Given the description of an element on the screen output the (x, y) to click on. 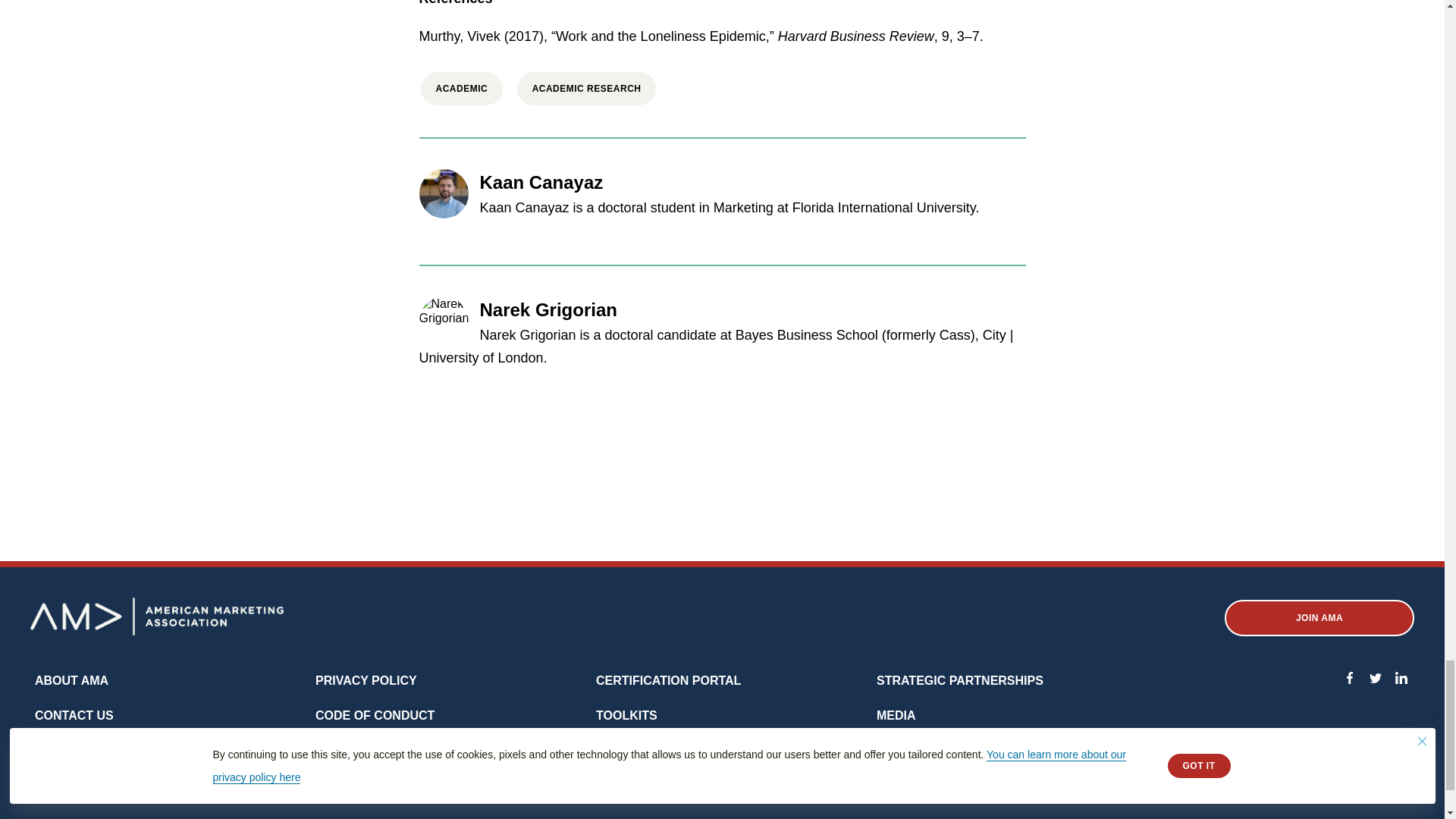
ACADEMIC (461, 88)
